Given the description of an element on the screen output the (x, y) to click on. 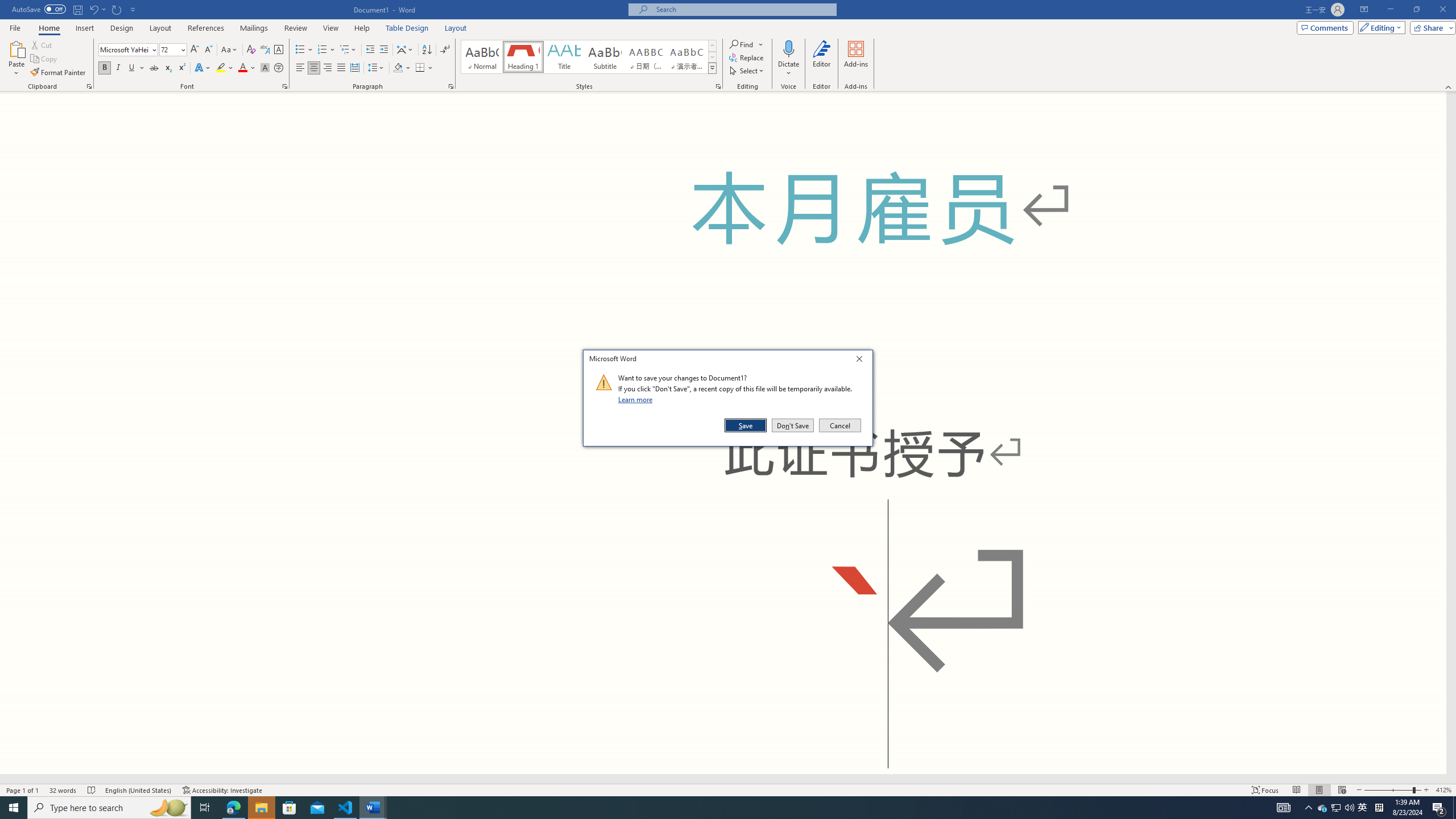
Word - 2 running windows (373, 807)
